Given the description of an element on the screen output the (x, y) to click on. 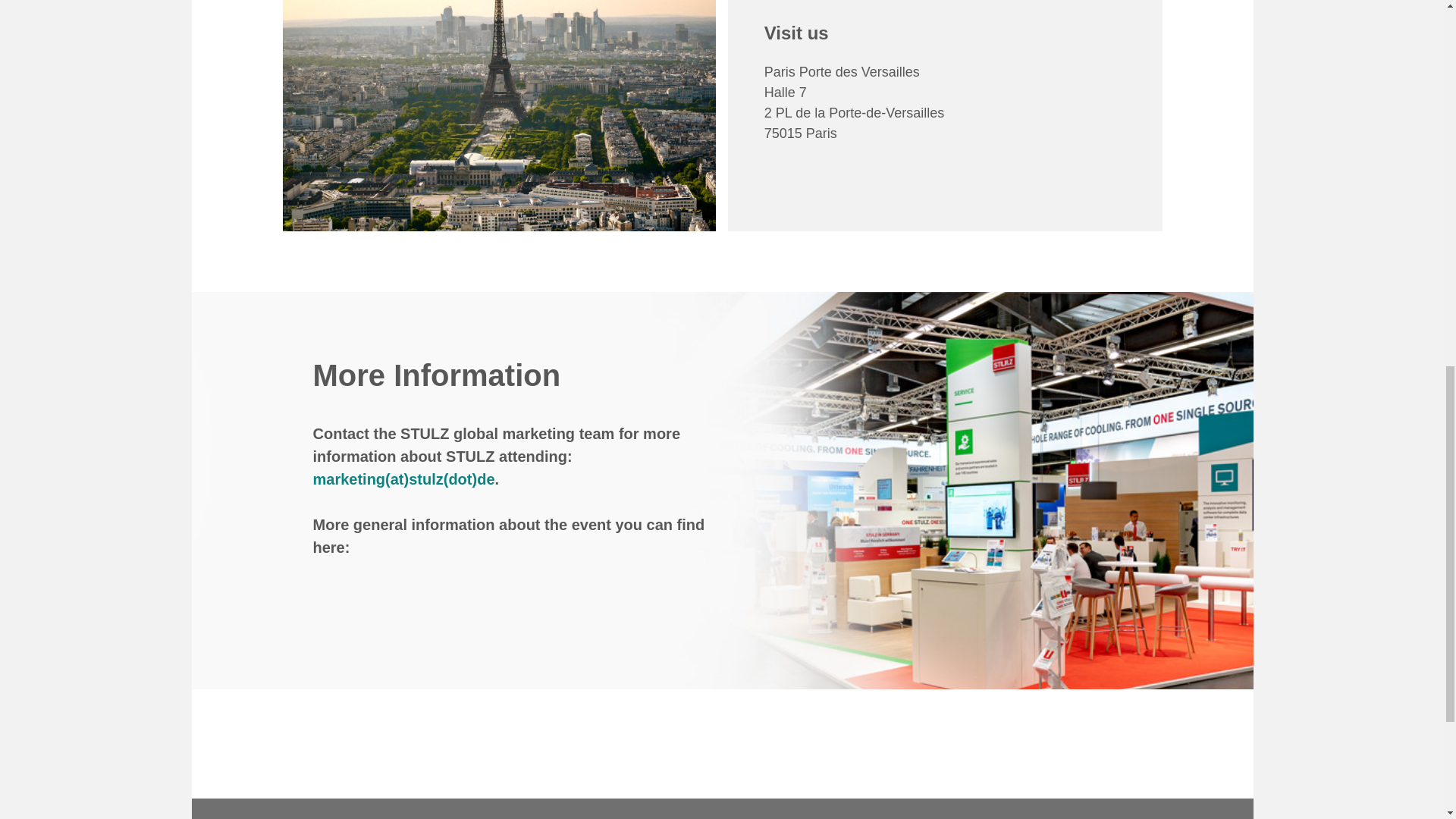
Data Centre World Paris (498, 115)
